Given the description of an element on the screen output the (x, y) to click on. 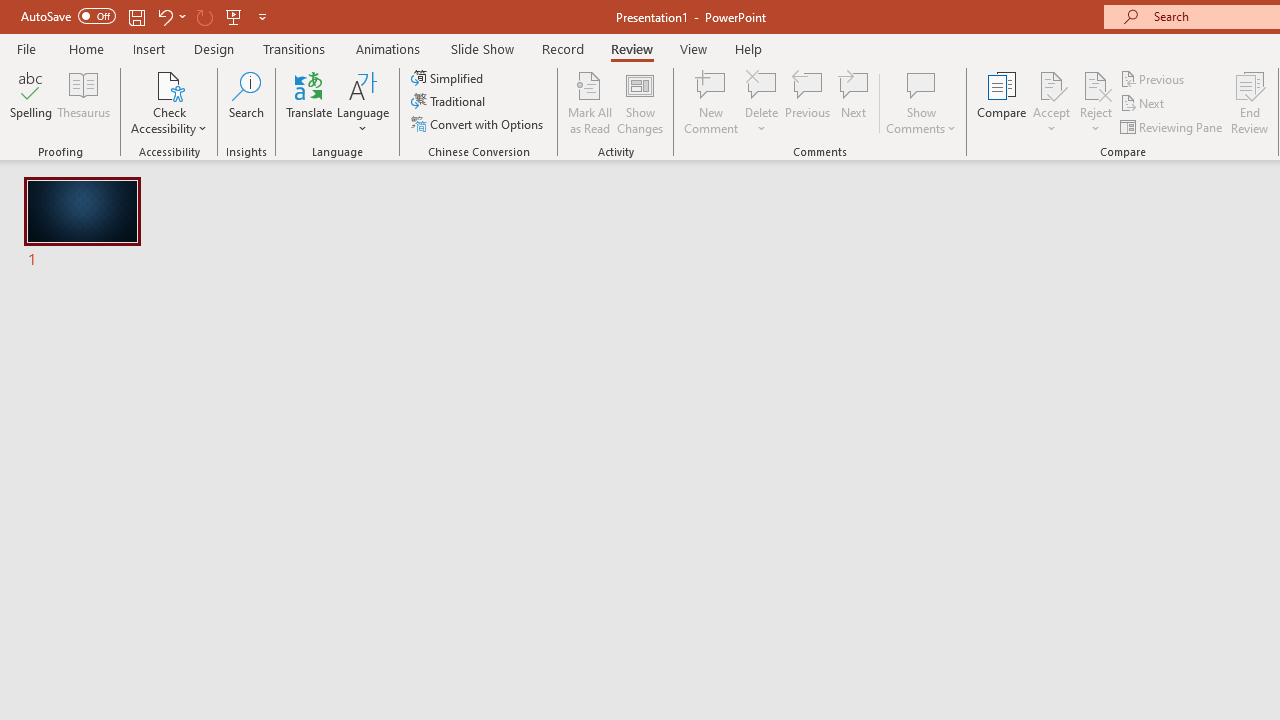
Convert with Options... (479, 124)
Translate (309, 102)
Compare (1002, 102)
Reject (1096, 102)
Reject Change (1096, 84)
